Given the description of an element on the screen output the (x, y) to click on. 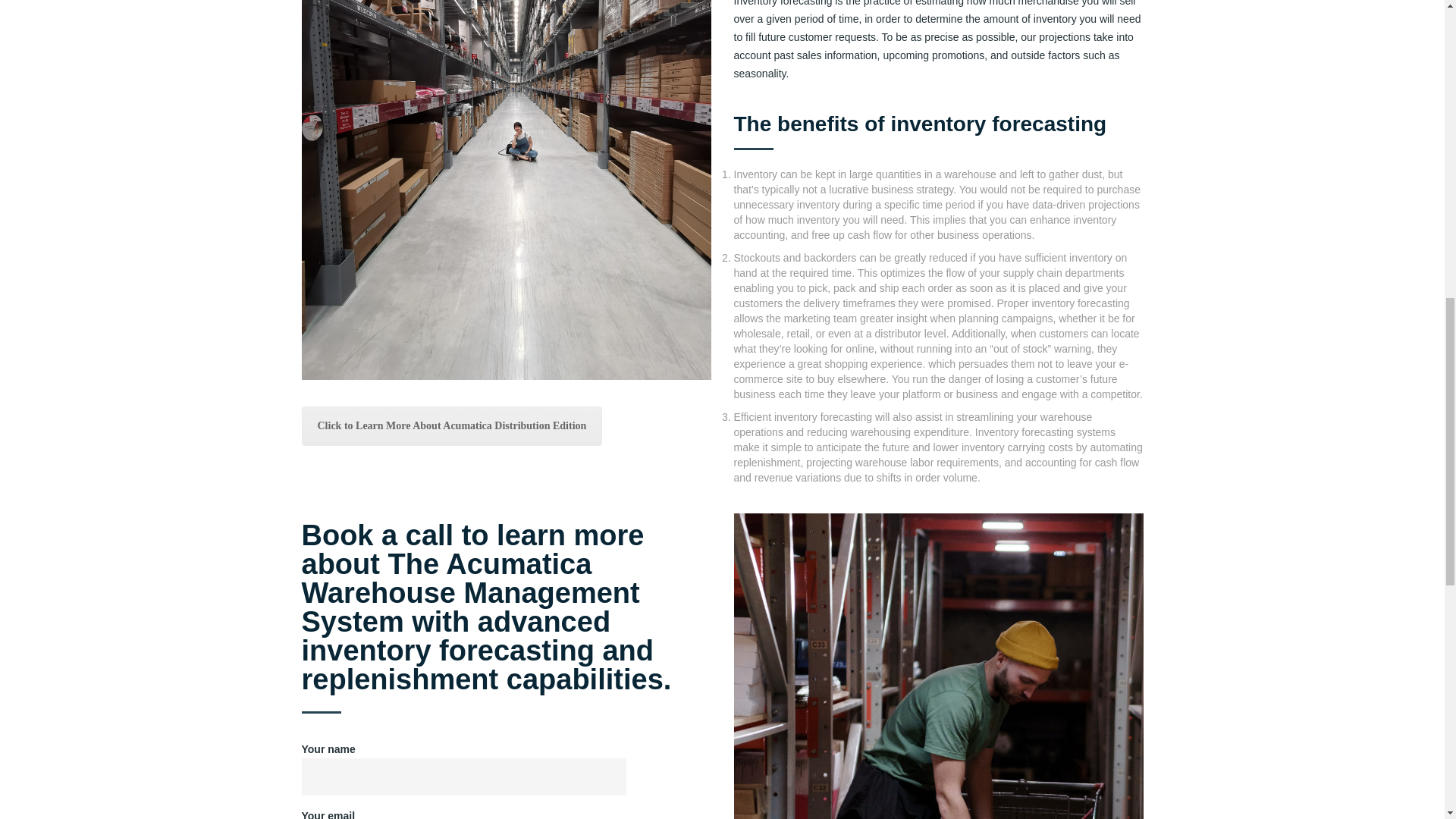
Click to Learn More About Acumatica Distribution Edition (451, 425)
